Given the description of an element on the screen output the (x, y) to click on. 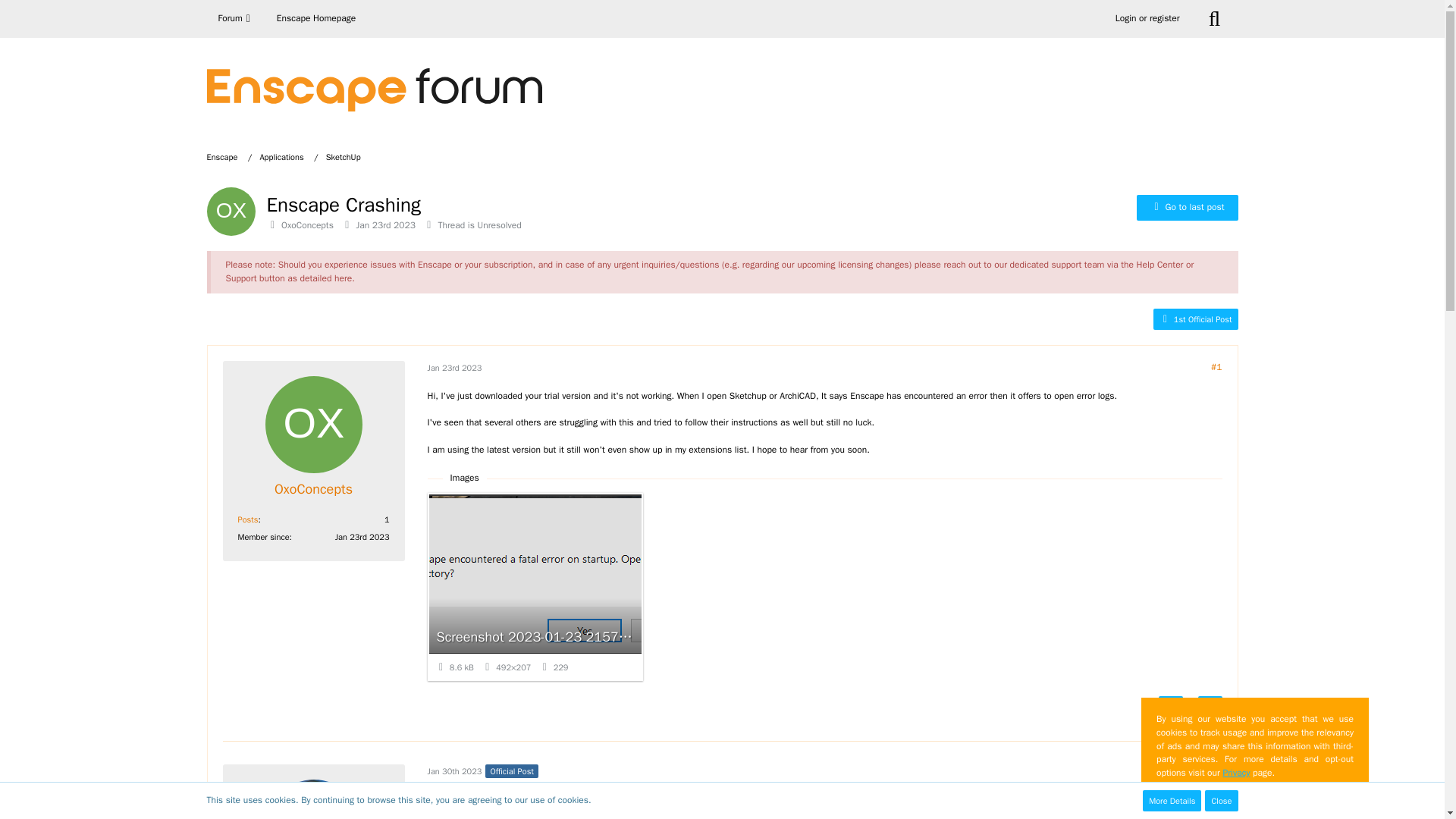
Jump to last post (1188, 207)
Login or register (1147, 18)
SketchUp (343, 156)
Enscape (228, 156)
Posts (248, 519)
OxoConcepts (307, 224)
Applications (280, 156)
1st Official Post (1195, 318)
Enscape Homepage (315, 18)
Go to last post (1188, 207)
SketchUp (343, 156)
Jan 23rd 2023 (385, 224)
